Given the description of an element on the screen output the (x, y) to click on. 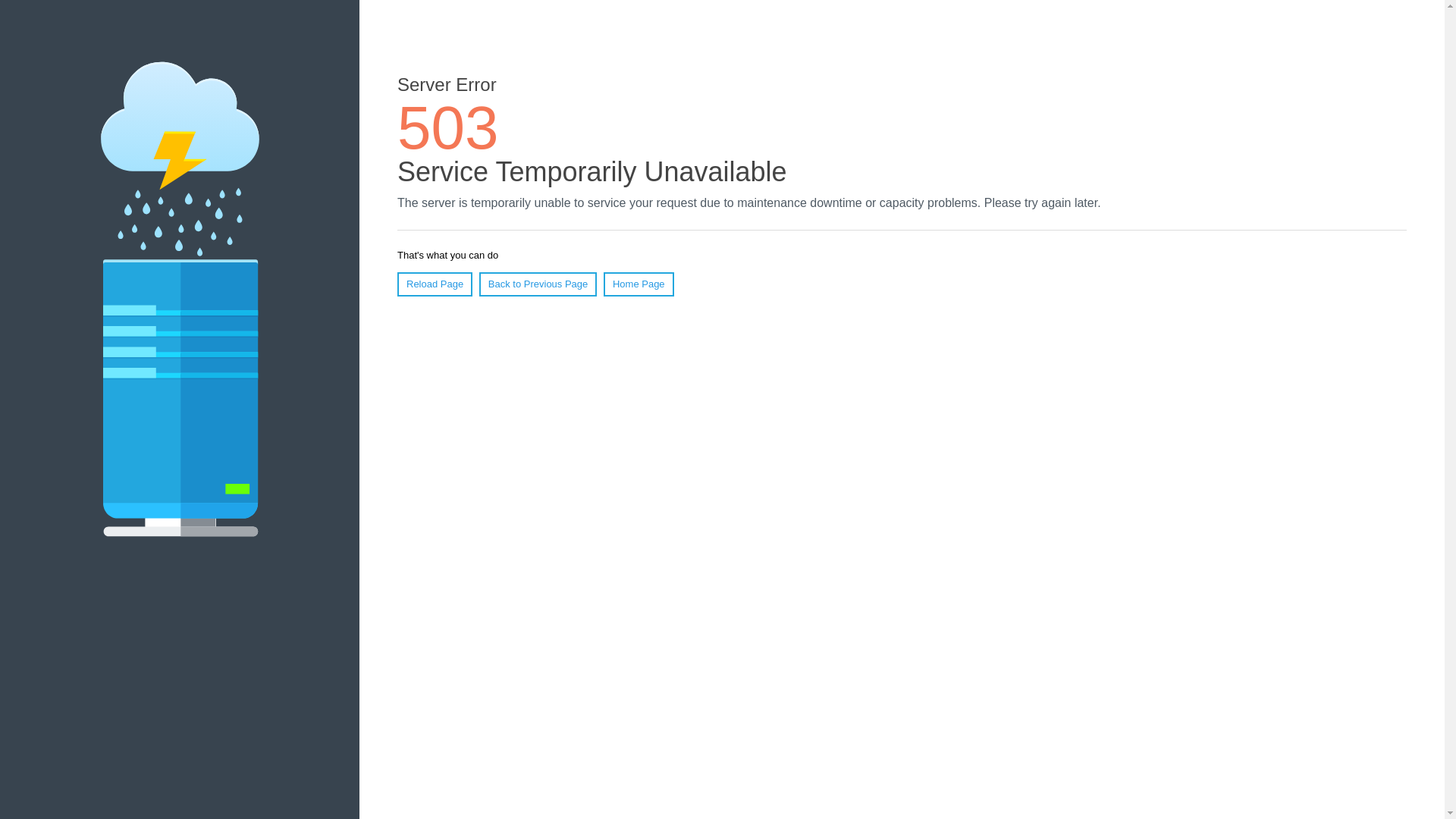
Back to Previous Page (537, 283)
Reload Page (434, 283)
Home Page (639, 283)
